Given the description of an element on the screen output the (x, y) to click on. 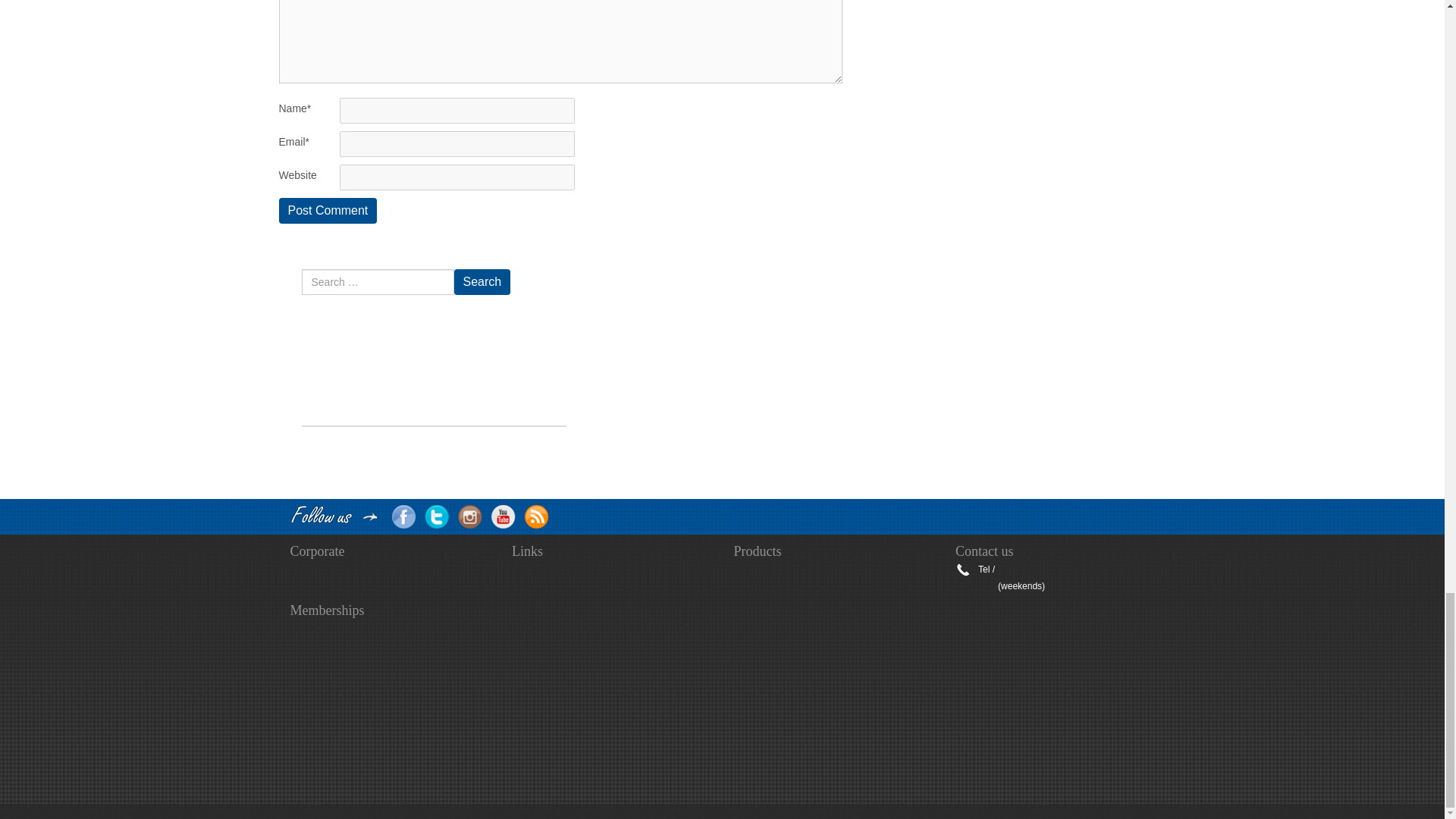
Post Comment (328, 210)
Search (481, 281)
Post Comment (328, 210)
Search (481, 281)
Search (481, 281)
